Given the description of an element on the screen output the (x, y) to click on. 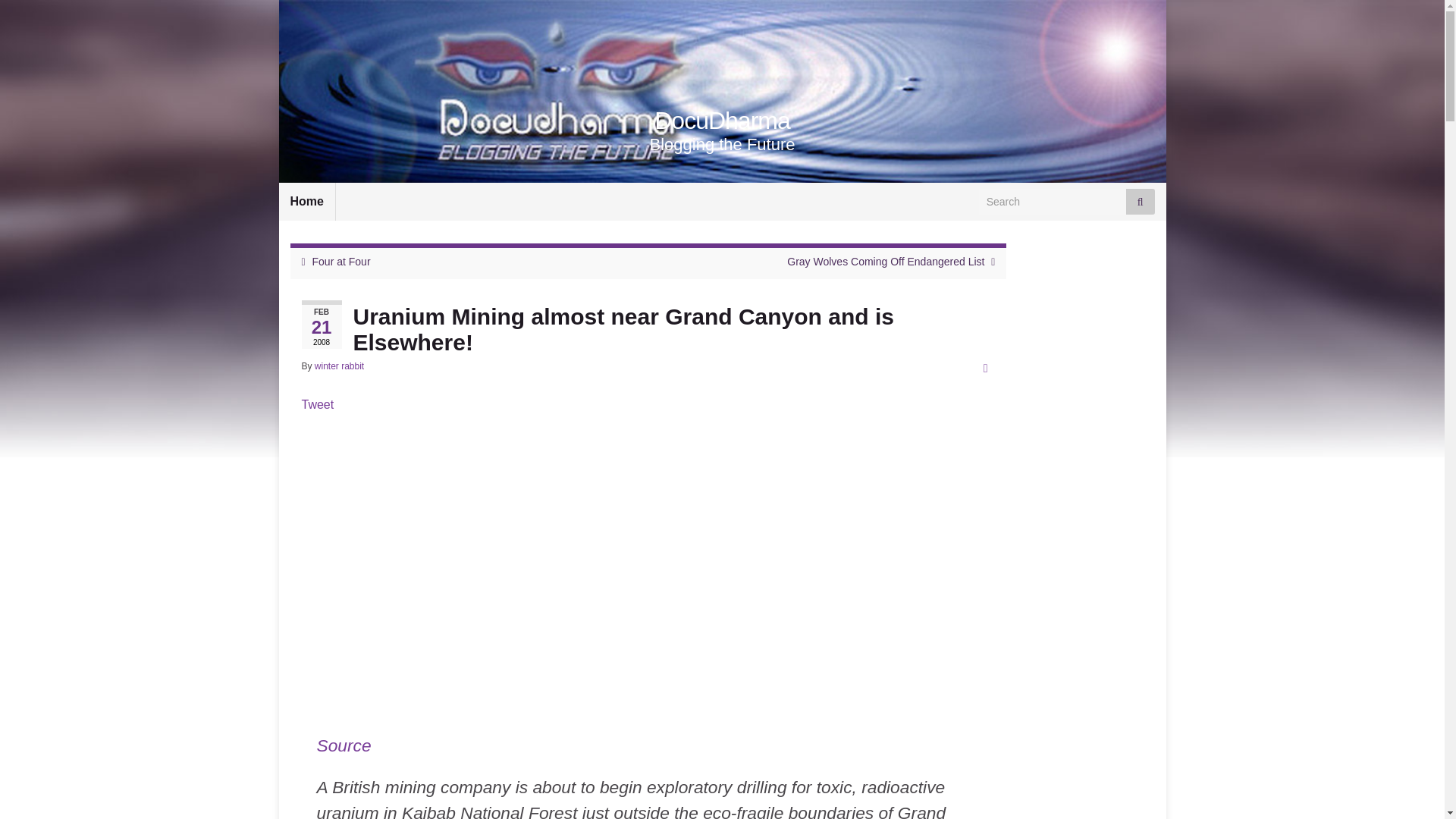
Source (344, 745)
Gray Wolves Coming Off Endangered List (885, 261)
Go back to the front page (721, 120)
Tweet (317, 404)
winter rabbit (339, 366)
Home (306, 201)
DocuDharma (721, 120)
Four at Four (342, 261)
